Given the description of an element on the screen output the (x, y) to click on. 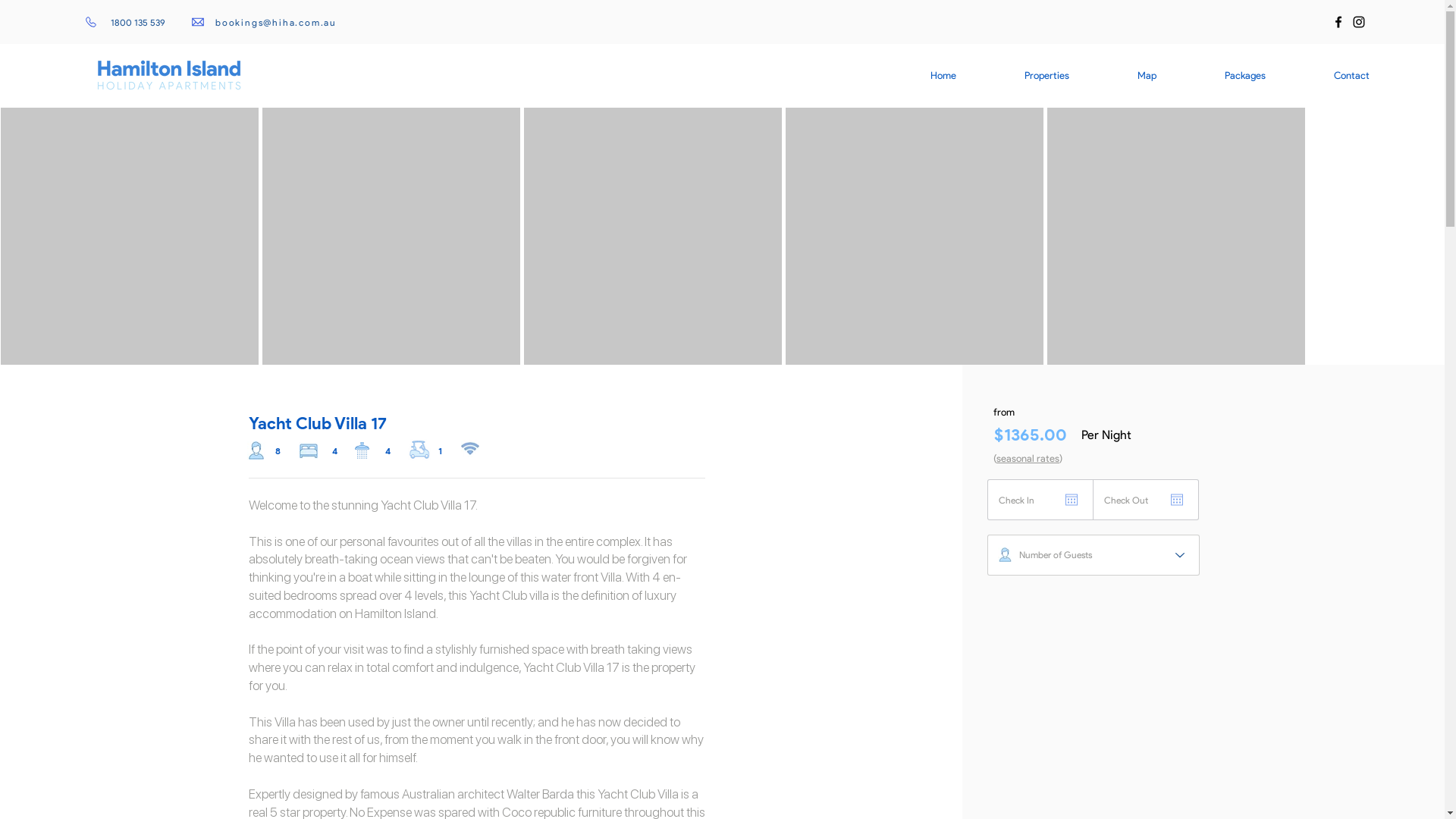
Home Element type: text (943, 75)
Contact Element type: text (1351, 75)
bookings@hiha.com.au Element type: text (265, 21)
1800 135 539 Element type: text (123, 21)
Map Element type: text (1146, 75)
Packages Element type: text (1244, 75)
